Given the description of an element on the screen output the (x, y) to click on. 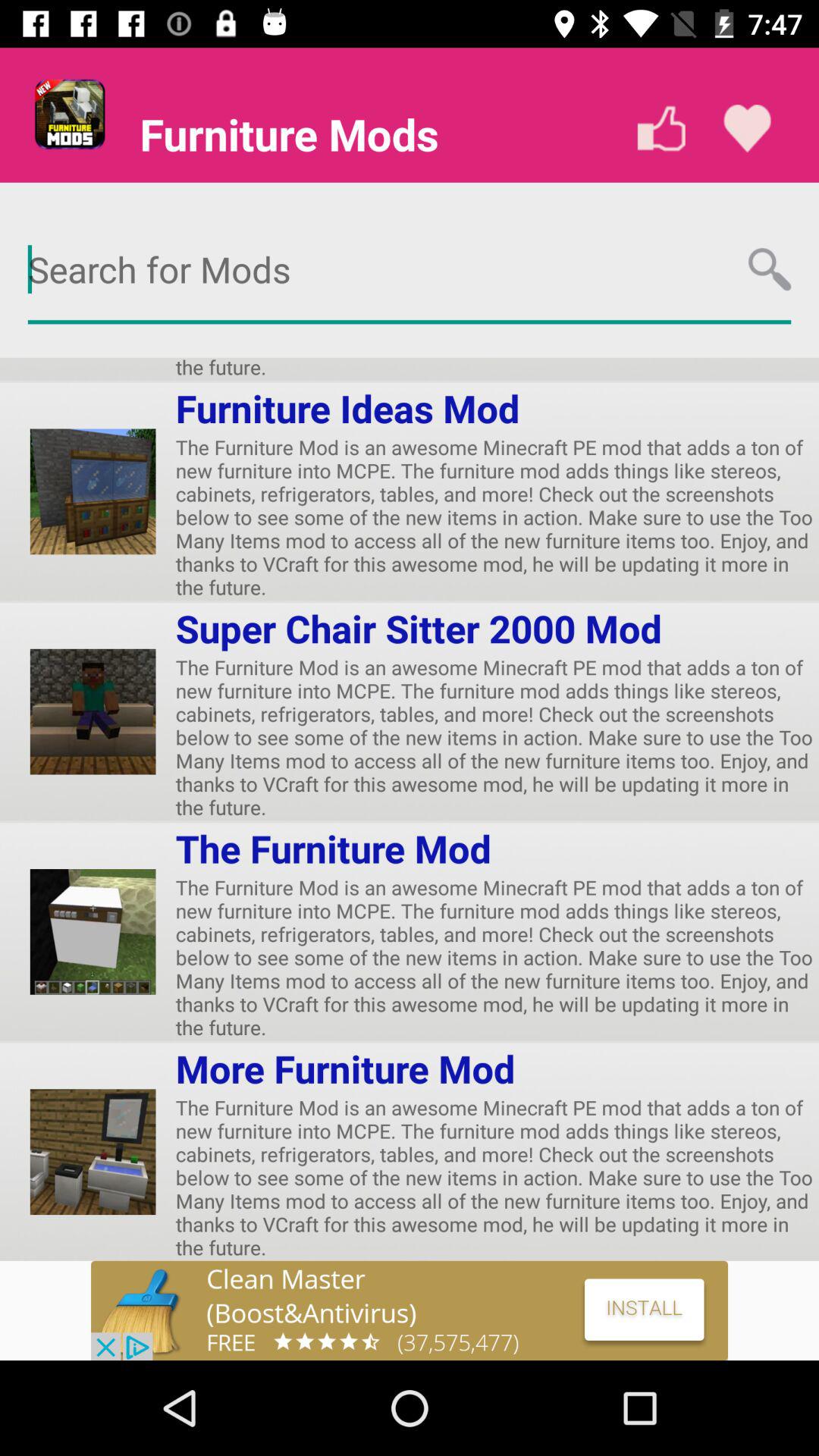
open advertisement (409, 1310)
